Given the description of an element on the screen output the (x, y) to click on. 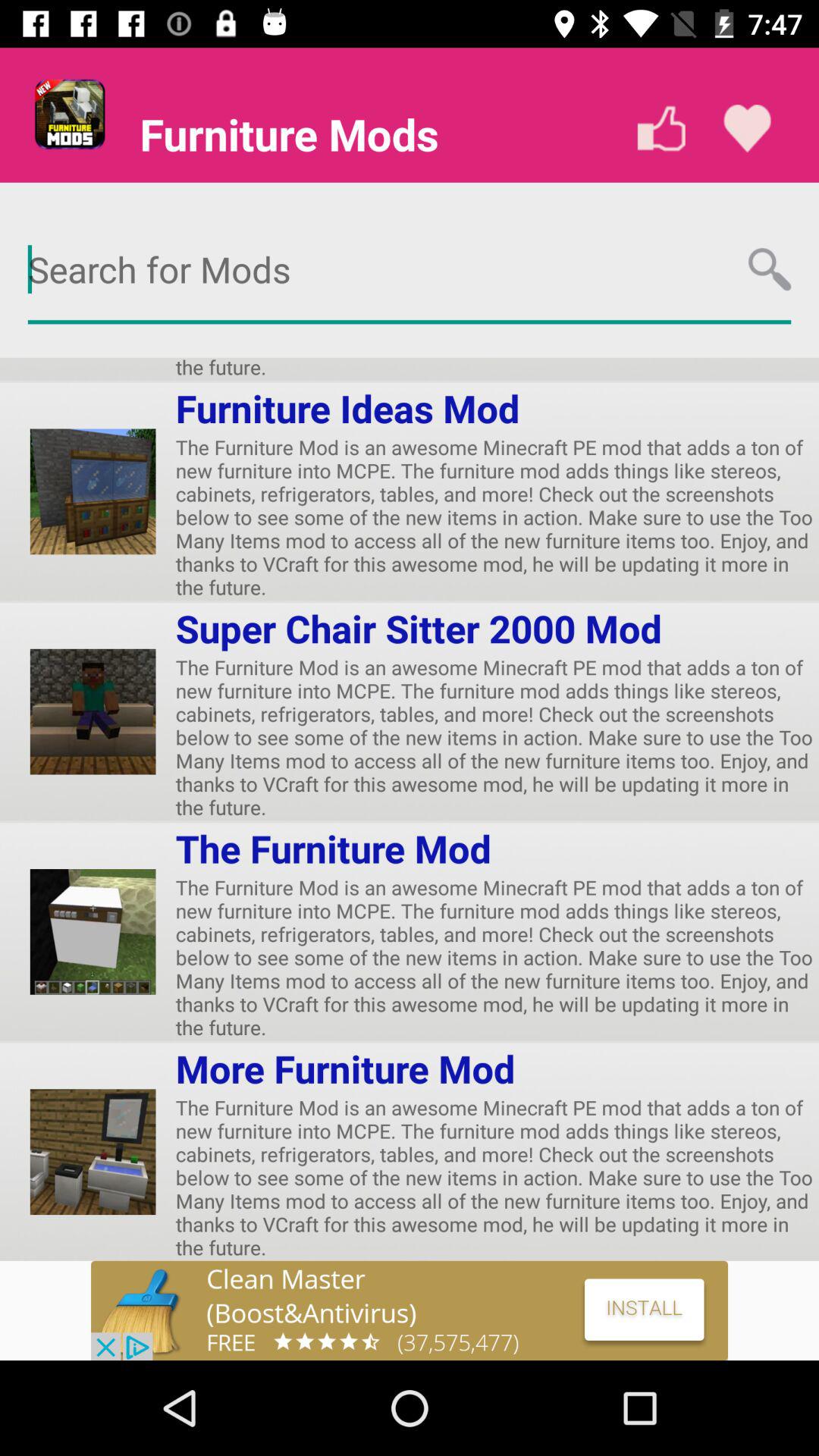
open advertisement (409, 1310)
